Given the description of an element on the screen output the (x, y) to click on. 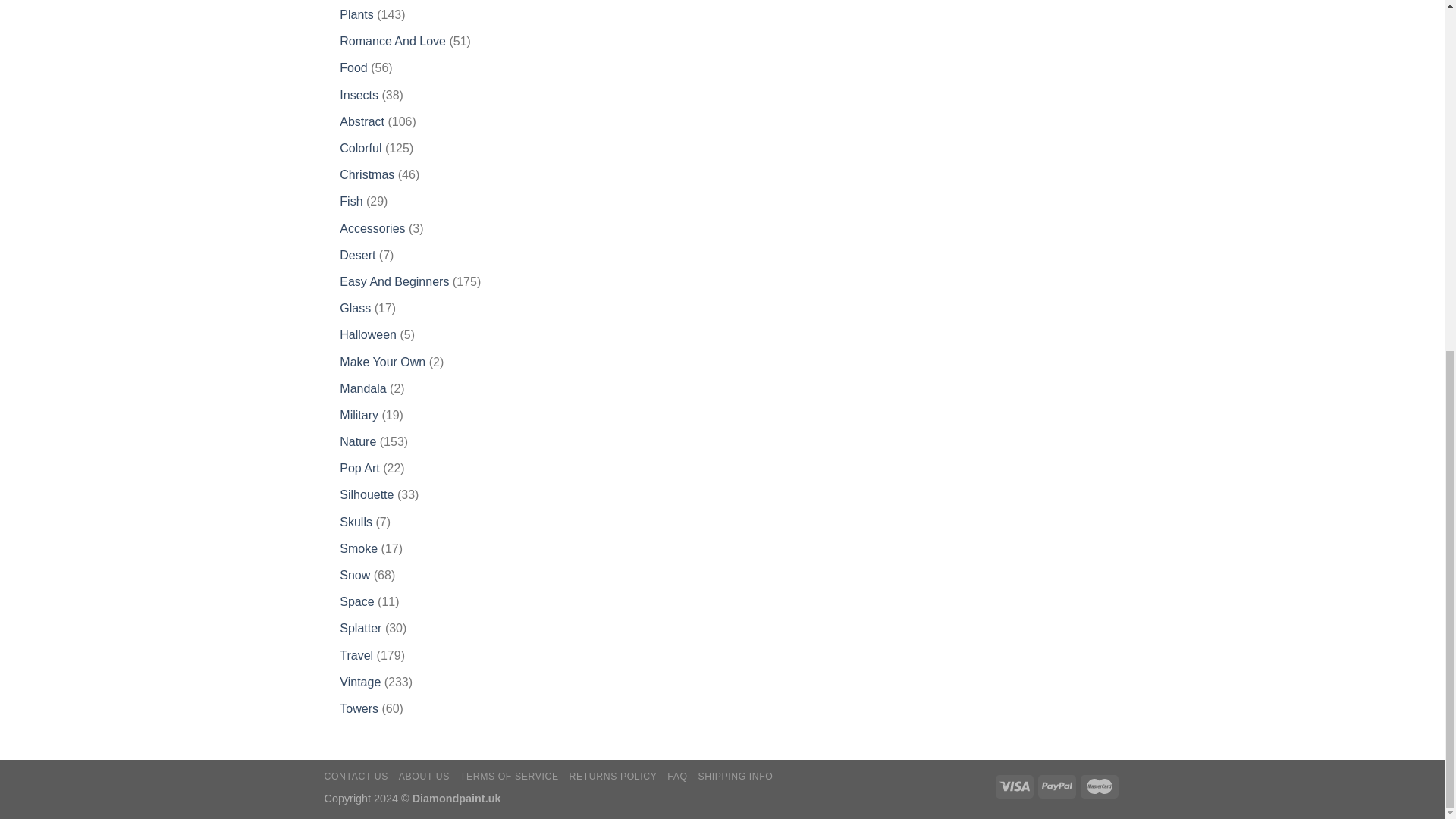
Plants (355, 14)
Abstract (361, 121)
Insects (358, 94)
Romance And Love (392, 41)
Colorful (360, 147)
Food (352, 67)
